Given the description of an element on the screen output the (x, y) to click on. 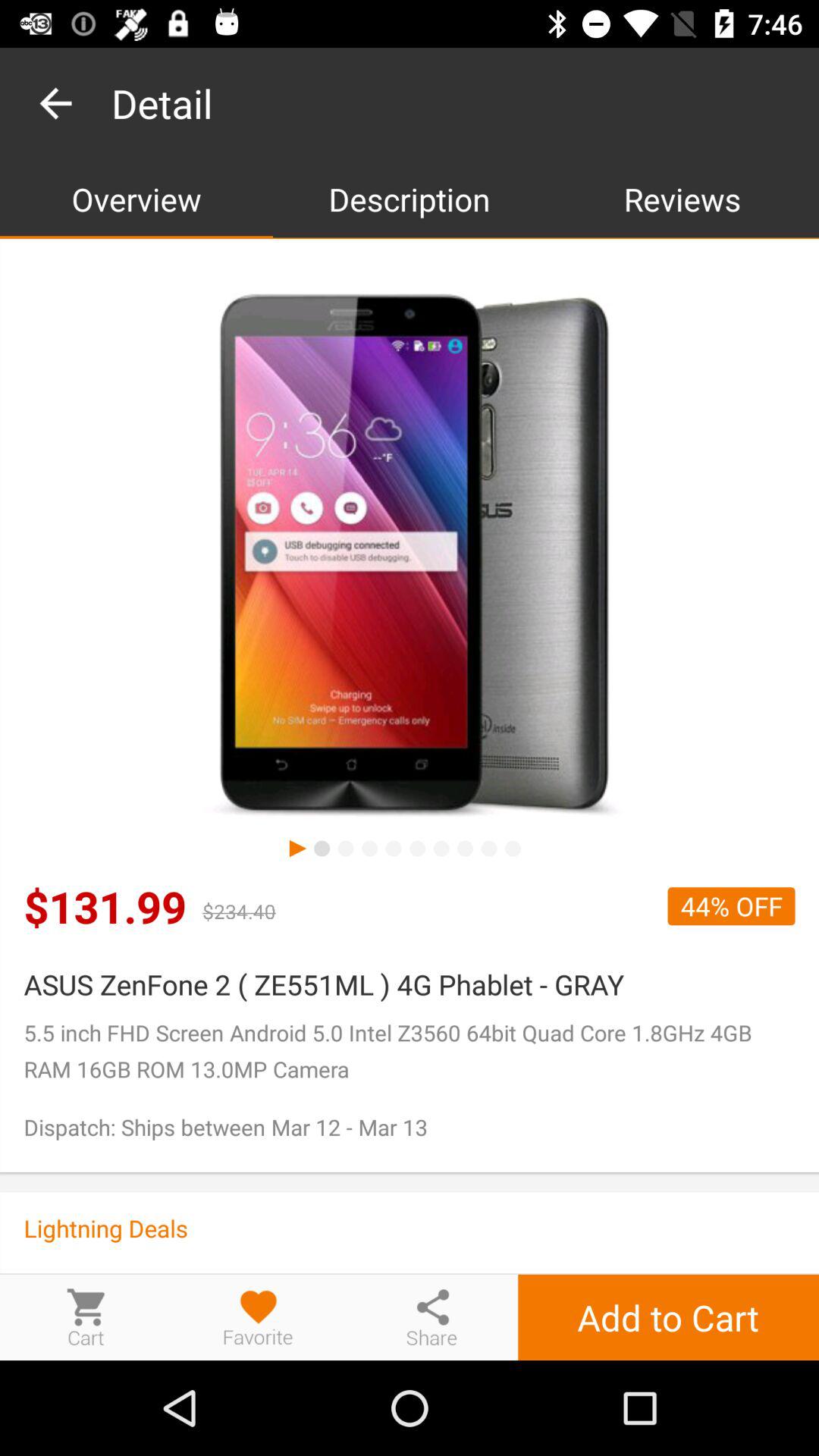
wireless cellular device (409, 556)
